Given the description of an element on the screen output the (x, y) to click on. 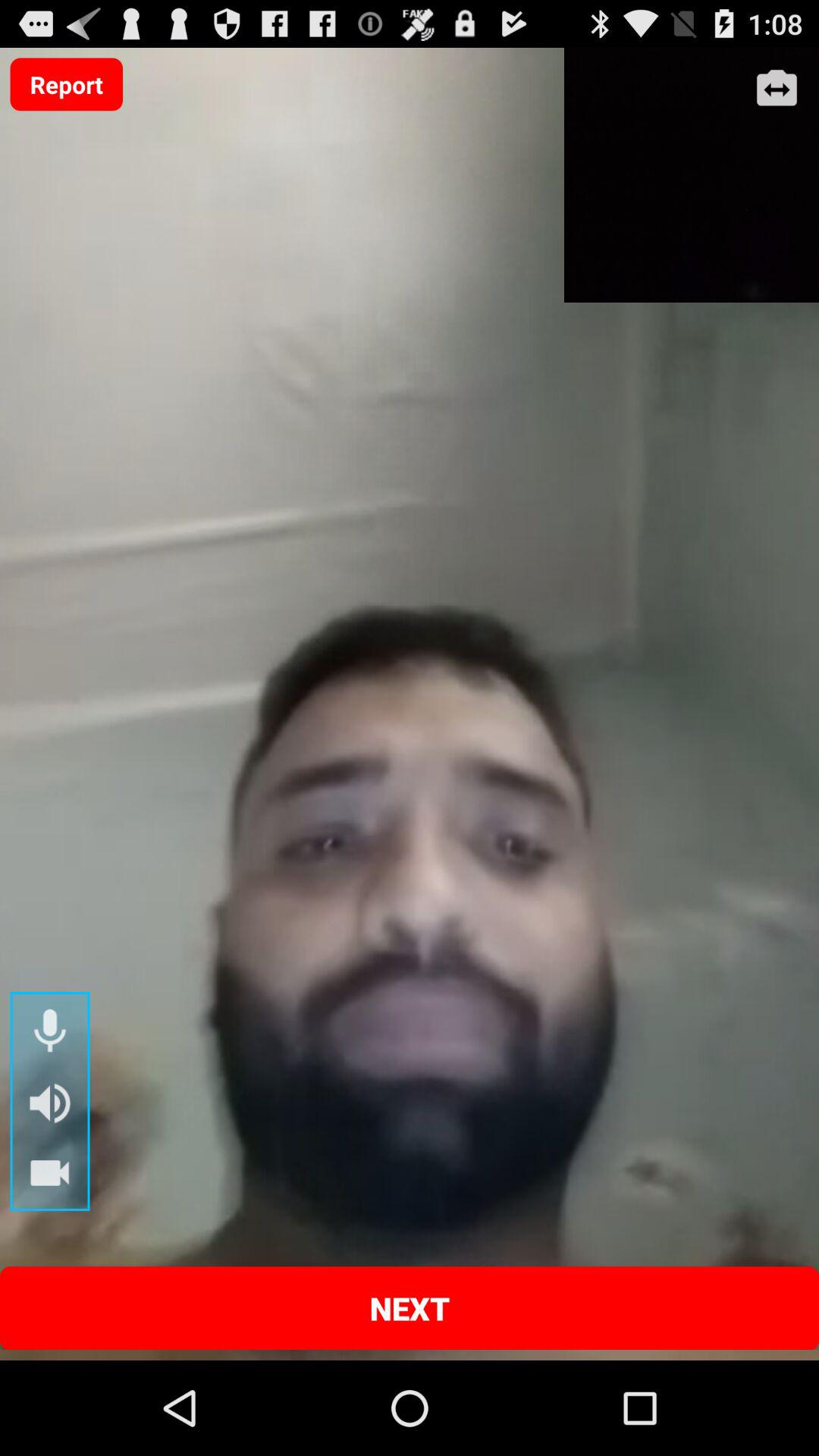
toggle speaker (49, 1103)
